Given the description of an element on the screen output the (x, y) to click on. 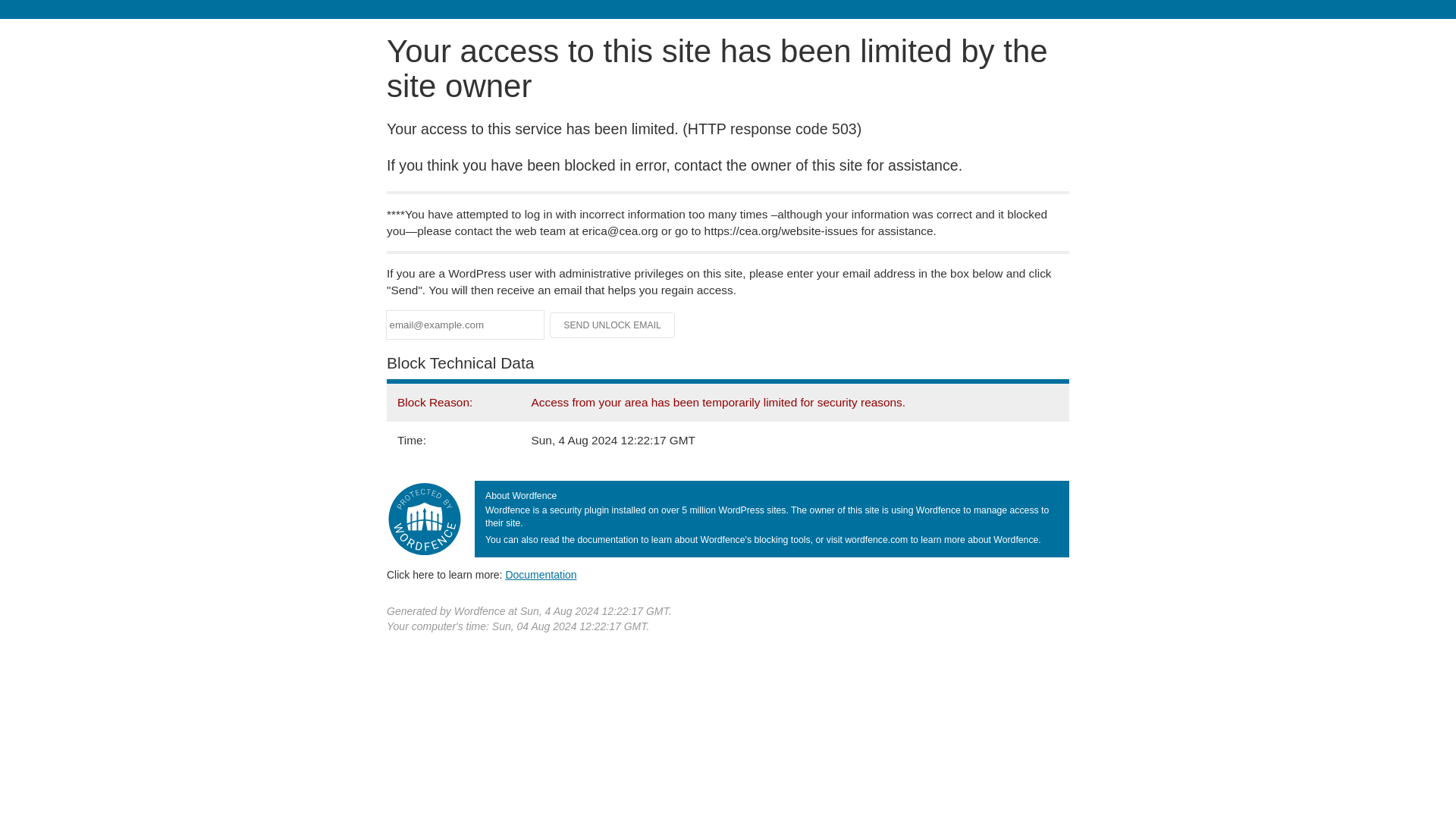
Send Unlock Email (612, 325)
Send Unlock Email (612, 325)
Documentation (540, 574)
